Given the description of an element on the screen output the (x, y) to click on. 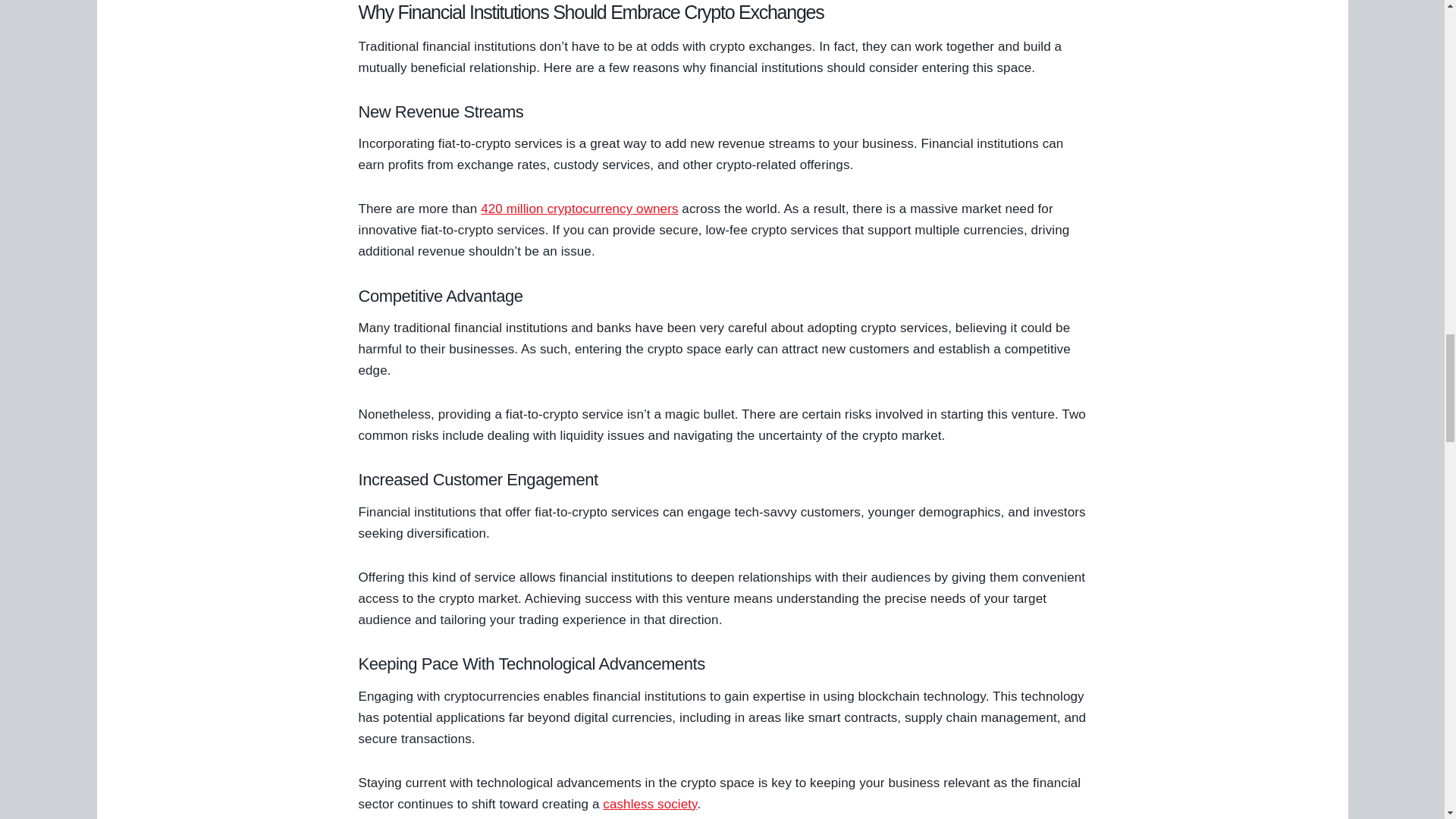
cashless society (649, 803)
420 million cryptocurrency owners (579, 208)
